Given the description of an element on the screen output the (x, y) to click on. 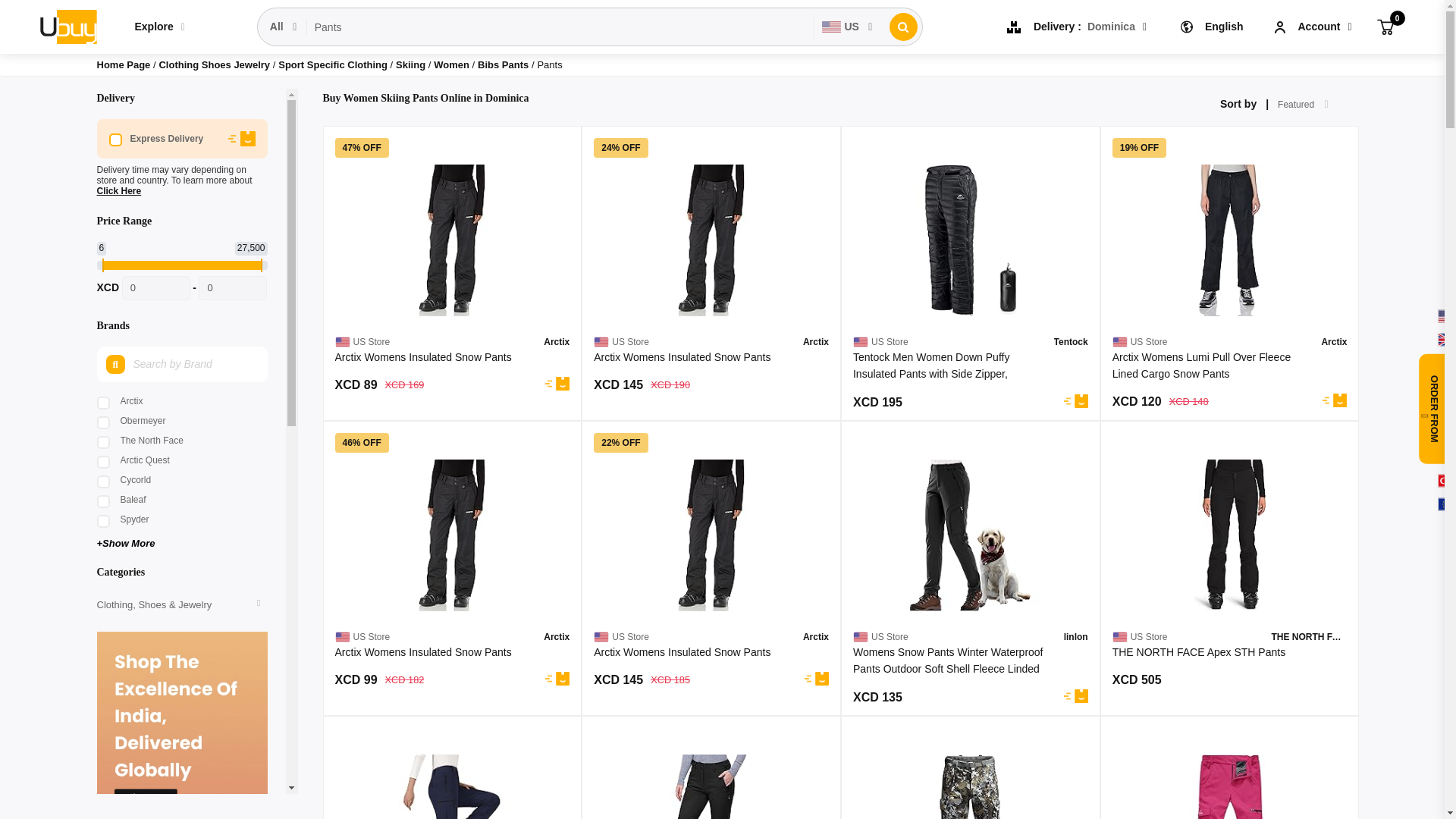
Pants (560, 26)
Clothing Shoes Jewelry (215, 64)
Home Page (124, 64)
0 (1385, 26)
Pants (560, 26)
0 (232, 288)
0 (156, 288)
US (846, 26)
All (283, 26)
Ubuy (67, 26)
Clothing Shoes Jewelry (215, 64)
Home Page (124, 64)
Cart (1385, 26)
